Given the description of an element on the screen output the (x, y) to click on. 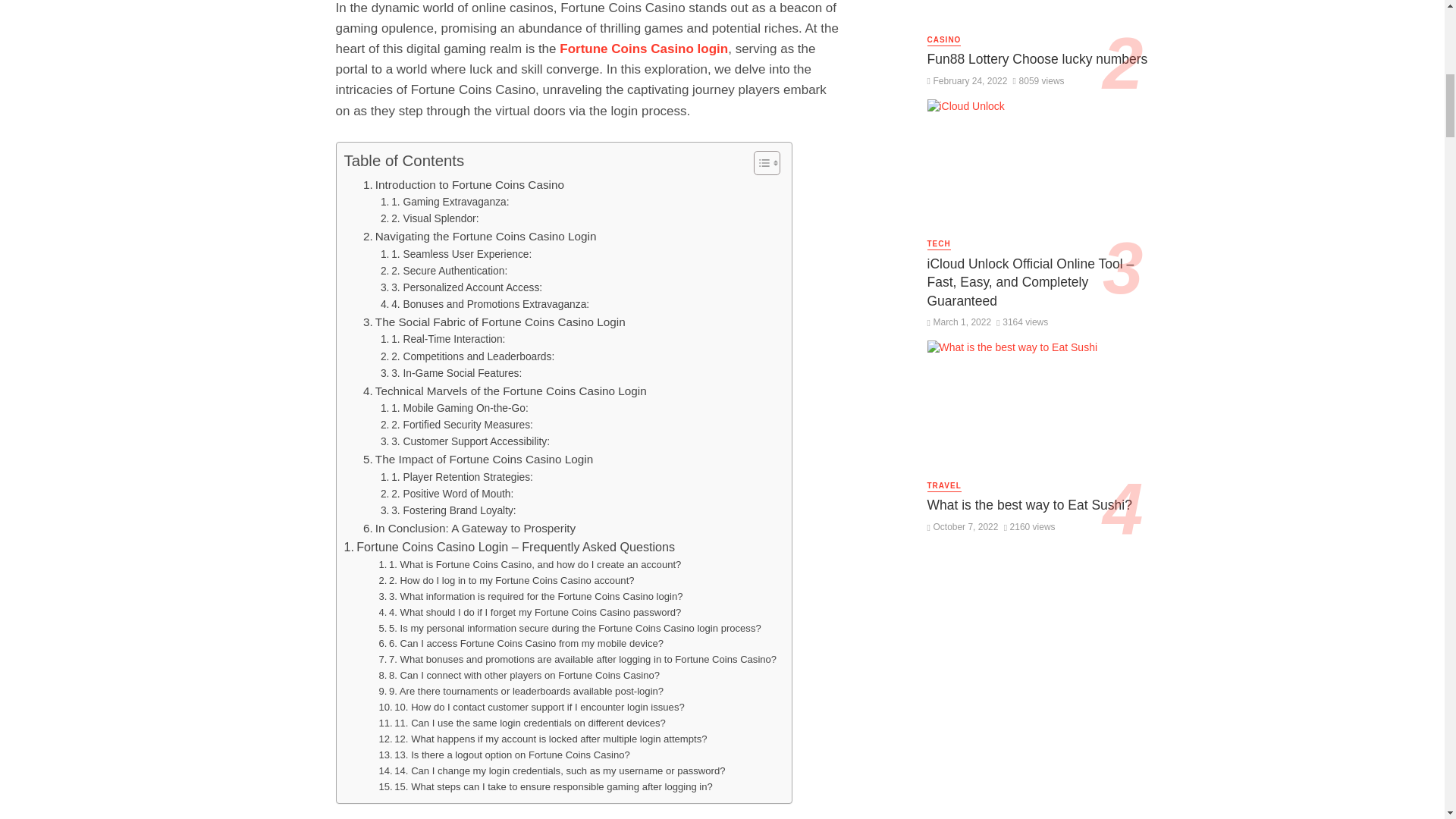
3. In-Game Social Features: (450, 373)
Navigating the Fortune Coins Casino Login (478, 236)
1. Mobile Gaming On-the-Go: (454, 408)
2. Visual Splendor: (429, 218)
Introduction to Fortune Coins Casino (463, 185)
2. Visual Splendor: (429, 218)
2. Competitions and Leaderboards: (467, 356)
1. Gaming Extravaganza: (444, 202)
Fortune Coins Casino login (643, 48)
1. Seamless User Experience: (455, 254)
Navigating the Fortune Coins Casino Login (478, 236)
The Social Fabric of Fortune Coins Casino Login (494, 321)
1. Real-Time Interaction: (442, 339)
1. Gaming Extravaganza: (444, 202)
4. Bonuses and Promotions Extravaganza: (484, 304)
